Given the description of an element on the screen output the (x, y) to click on. 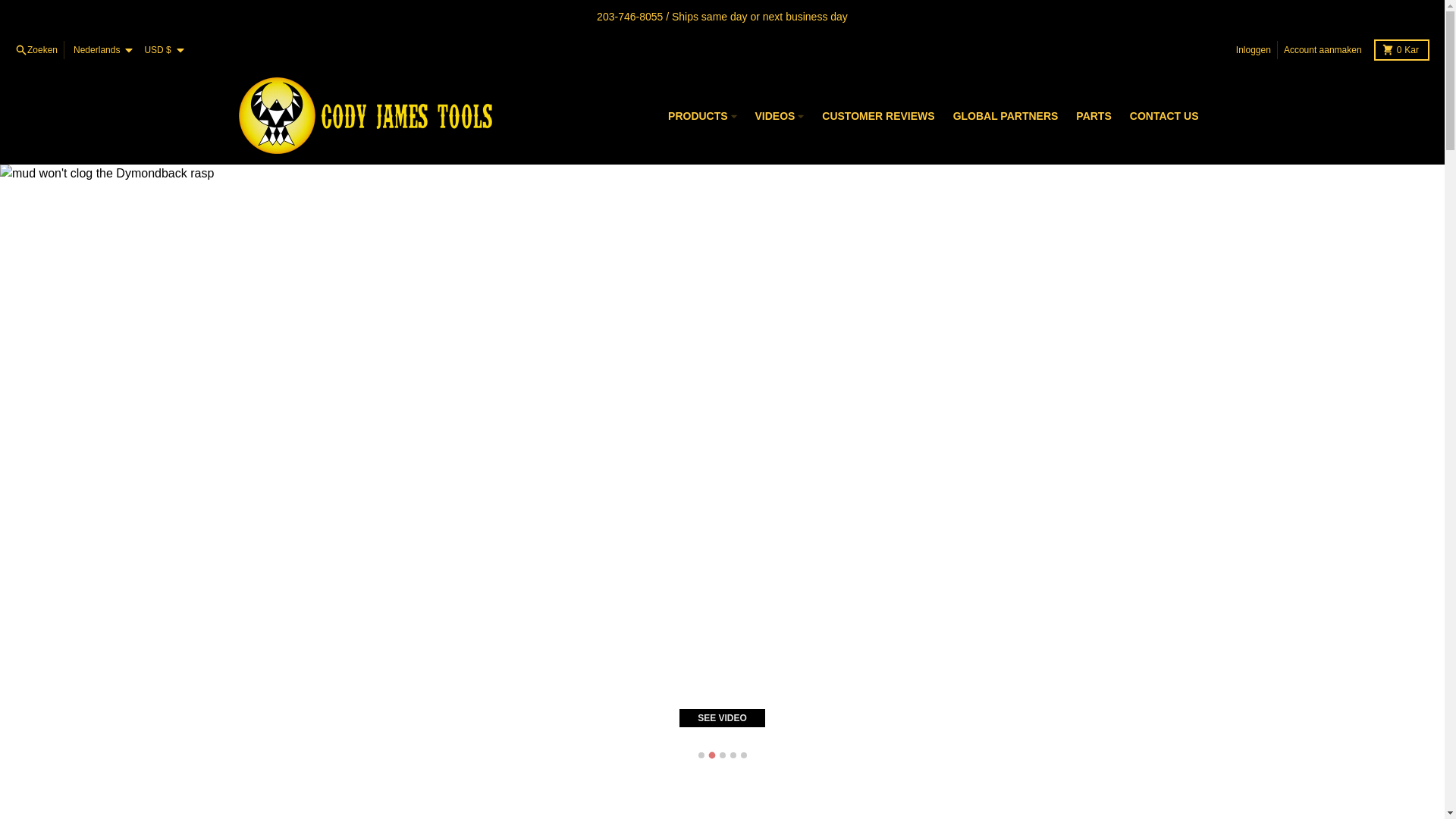
Zoeken (36, 49)
Account aanmaken (1322, 49)
Nederlands (102, 49)
Inloggen (1253, 49)
